Given the description of an element on the screen output the (x, y) to click on. 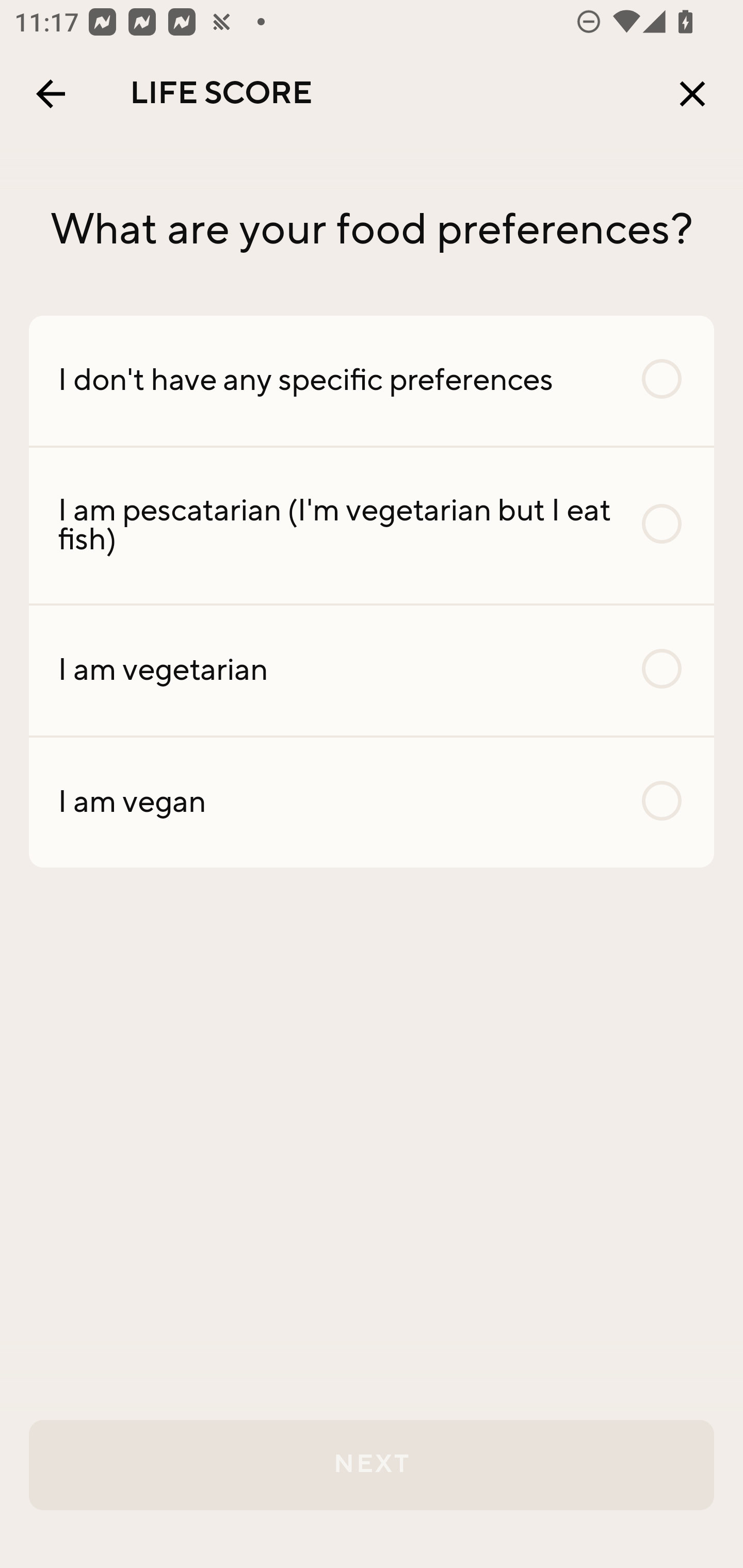
I don't have any specific preferences (371, 380)
I am pescatarian (I'm vegetarian but I eat fish) (371, 525)
I am vegetarian (371, 670)
I am vegan (371, 801)
NEXT (371, 1464)
